Given the description of an element on the screen output the (x, y) to click on. 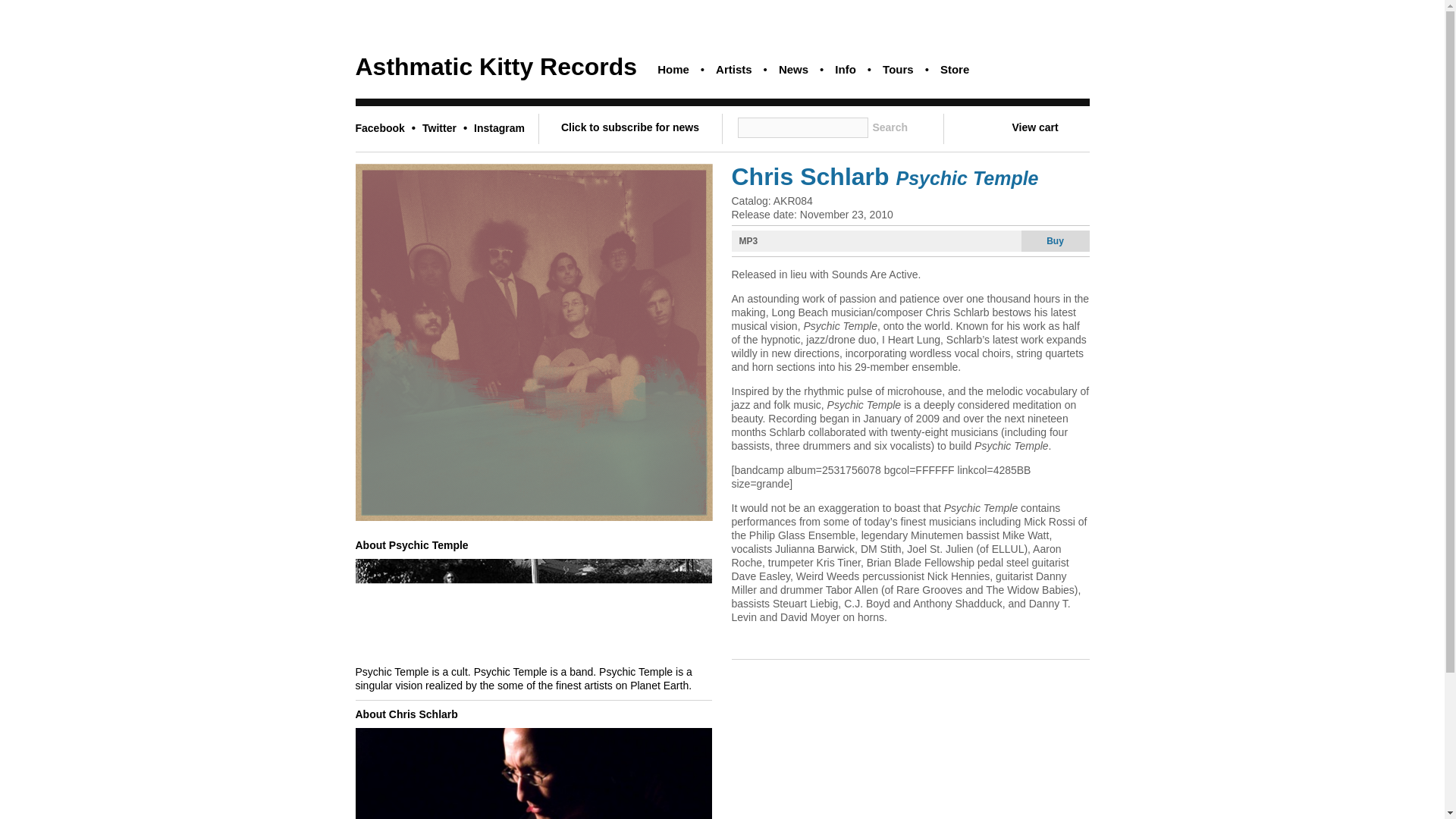
Instagram (500, 128)
Twitter (446, 128)
Artists (733, 68)
Facebook (387, 128)
Asthmatic Kitty Records (496, 66)
Home (673, 68)
Psychic Temple (533, 516)
Click to subscribe for news (629, 127)
View cart (1049, 127)
Tours (898, 68)
Asthmatic Kitty Records (496, 66)
Info (845, 68)
About Chris Schlarb (406, 714)
